Given the description of an element on the screen output the (x, y) to click on. 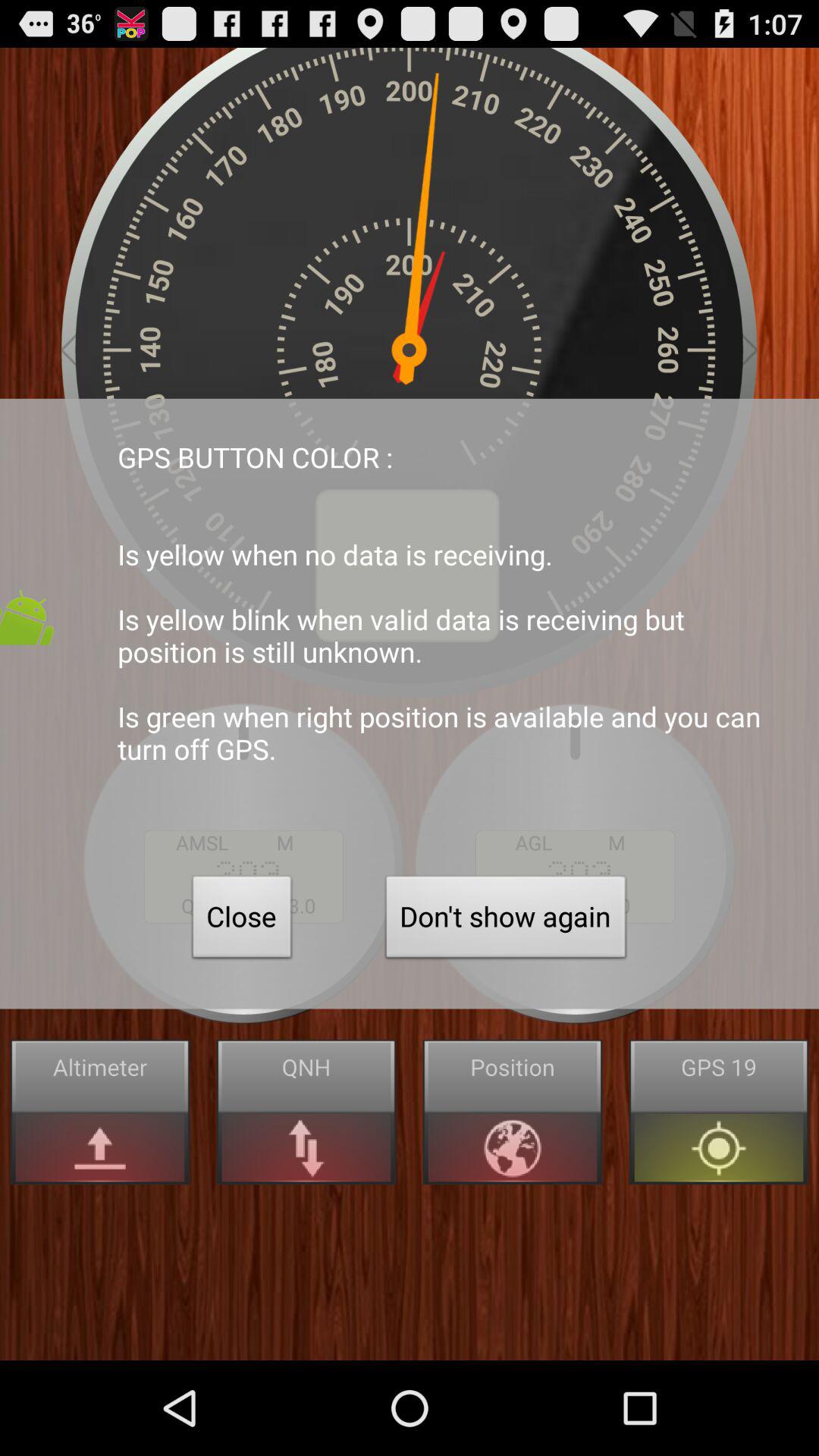
choose item below gps button color item (505, 921)
